Given the description of an element on the screen output the (x, y) to click on. 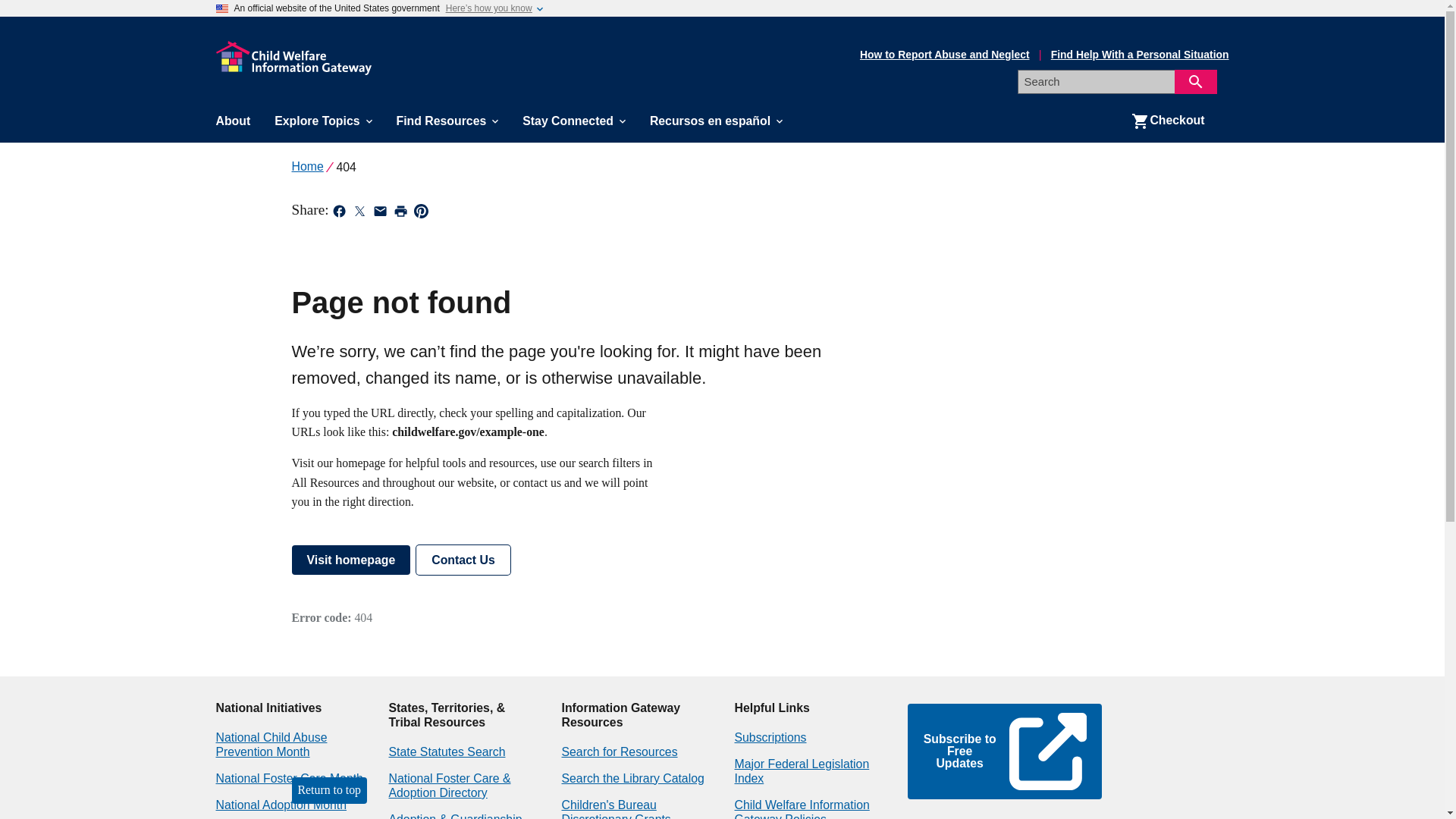
Major Federal Legislation Index (801, 770)
Find Help With a Personal Situation (1139, 54)
Visit homepage (350, 559)
Search for Resources (618, 751)
Explore Topics (323, 120)
Contact Us (463, 559)
Child Welfare Information Gateway Policies (801, 808)
Search the Library Catalog (631, 778)
Subscriptions (769, 737)
National Child Abuse Prevention Month (270, 744)
Checkout (1167, 120)
How to Report Abuse and Neglect (944, 54)
Home (307, 165)
Children's Bureau Discretionary Grants (614, 808)
Stay Connected (574, 120)
